Given the description of an element on the screen output the (x, y) to click on. 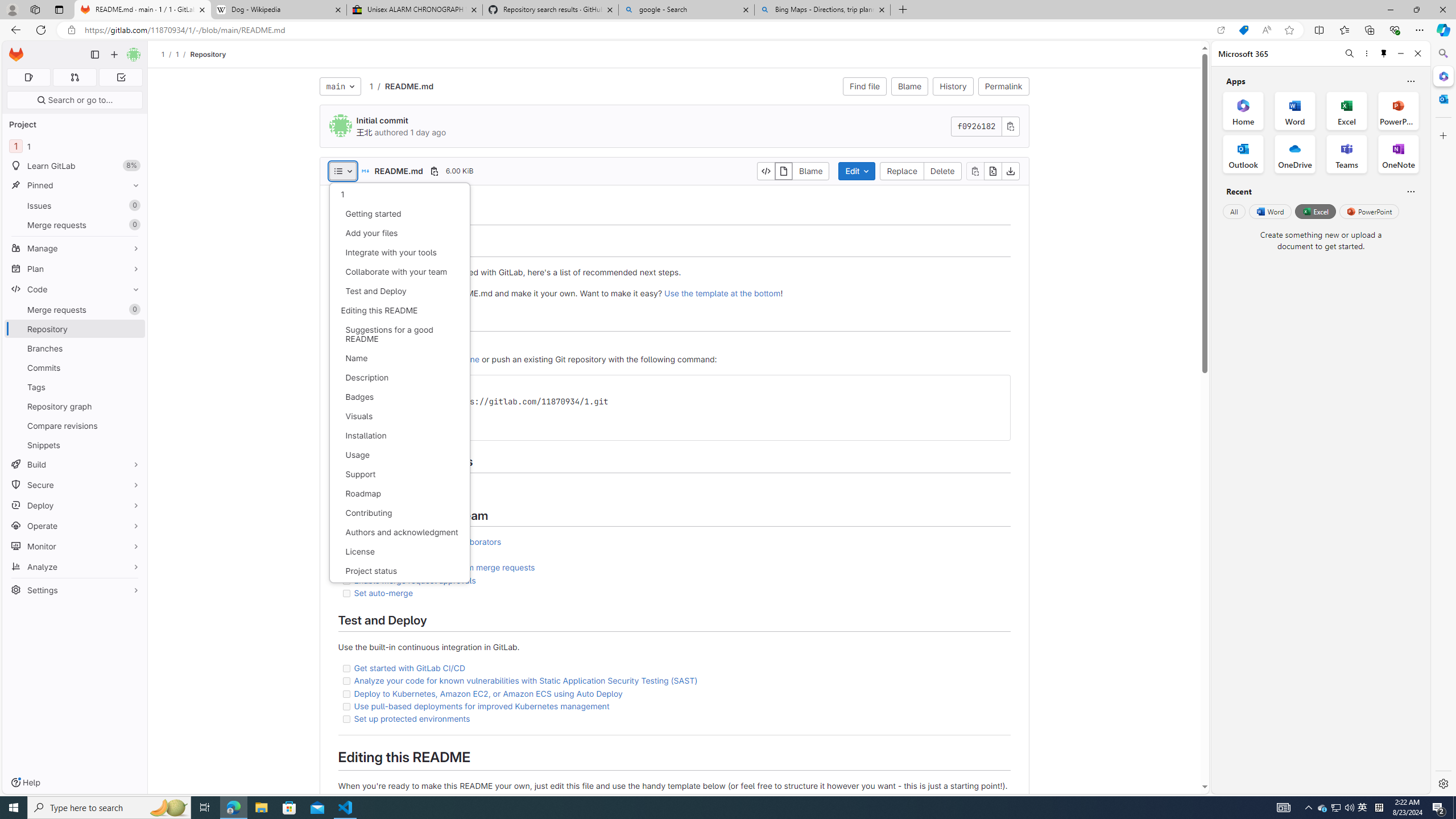
Unpin Issues (132, 205)
Automatically close issues from merge requests (444, 567)
Outlook Office App (1243, 154)
Branches (74, 348)
Automatically close issues from merge requests (673, 567)
Create a new merge request (673, 554)
Home Office App (1243, 110)
Set up protected environments (673, 718)
Class: btn btn-default btn-md gl-button btn-icon has-tooltip (997, 388)
